Given the description of an element on the screen output the (x, y) to click on. 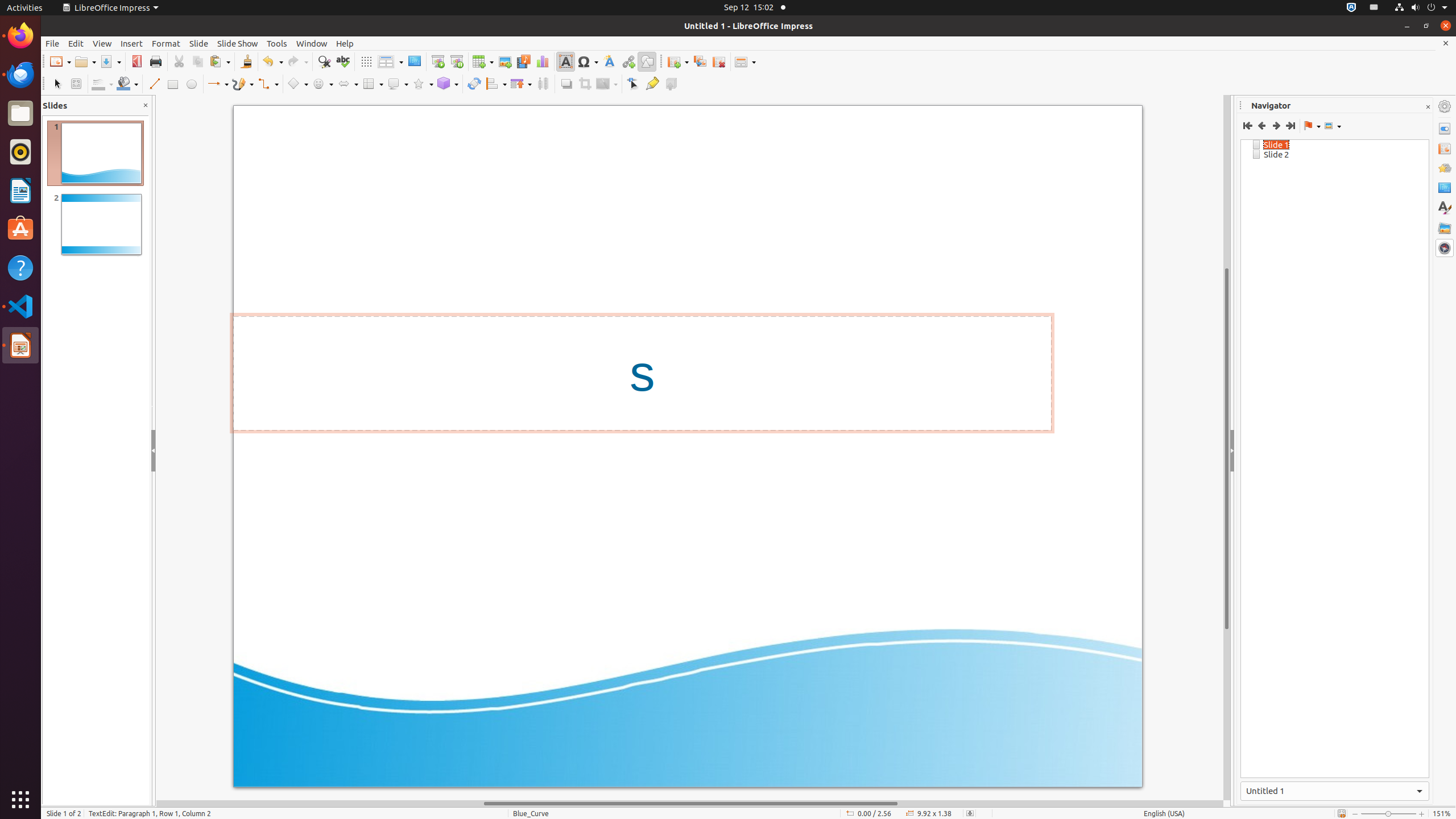
Shadow Element type: toggle-button (565, 83)
Arrow Shapes Element type: push-button (347, 83)
Horizontal scroll bar Element type: scroll-bar (689, 803)
New Slide Element type: push-button (677, 61)
Grid Element type: toggle-button (365, 61)
